Given the description of an element on the screen output the (x, y) to click on. 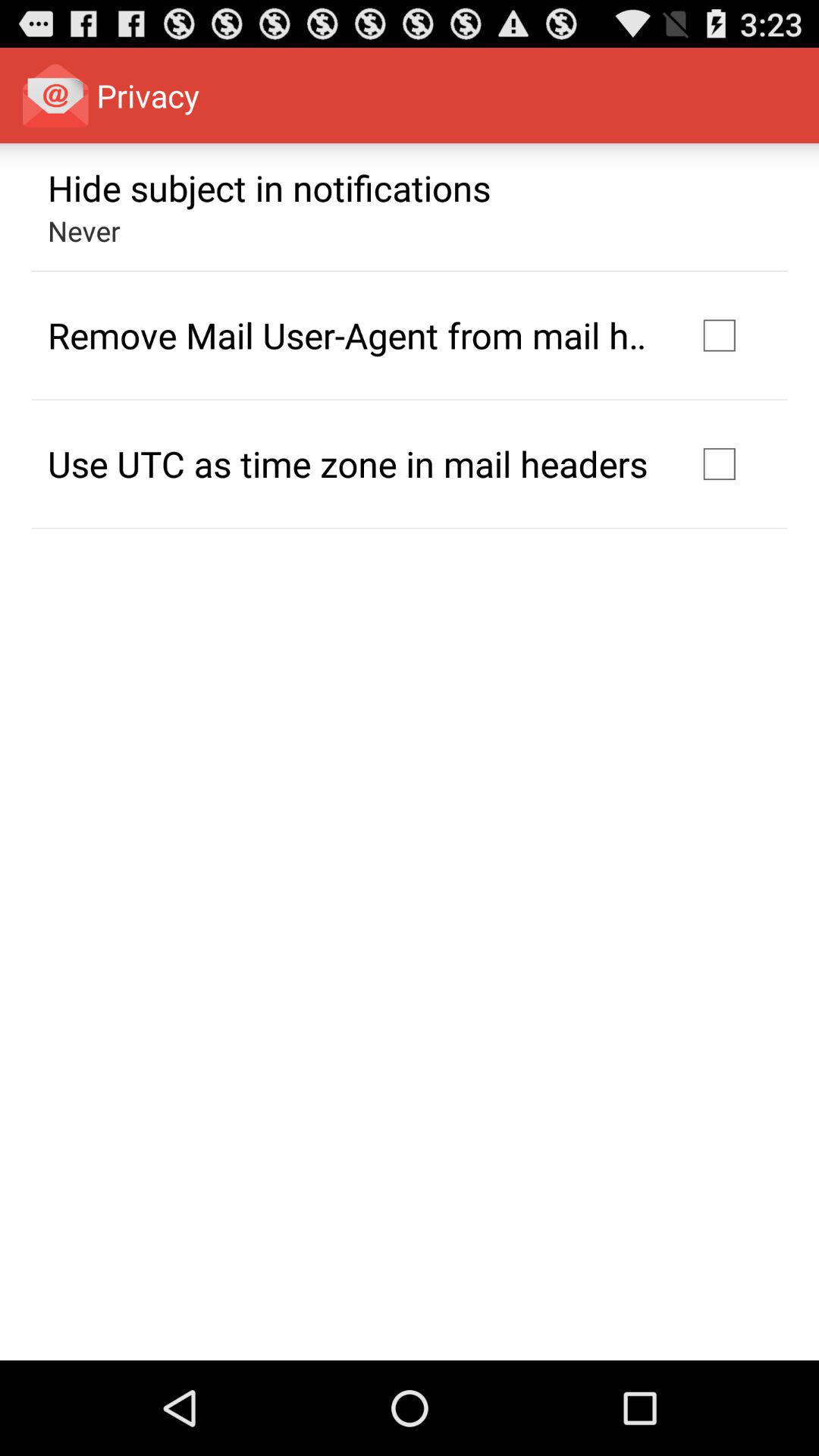
select use utc as (347, 463)
